Given the description of an element on the screen output the (x, y) to click on. 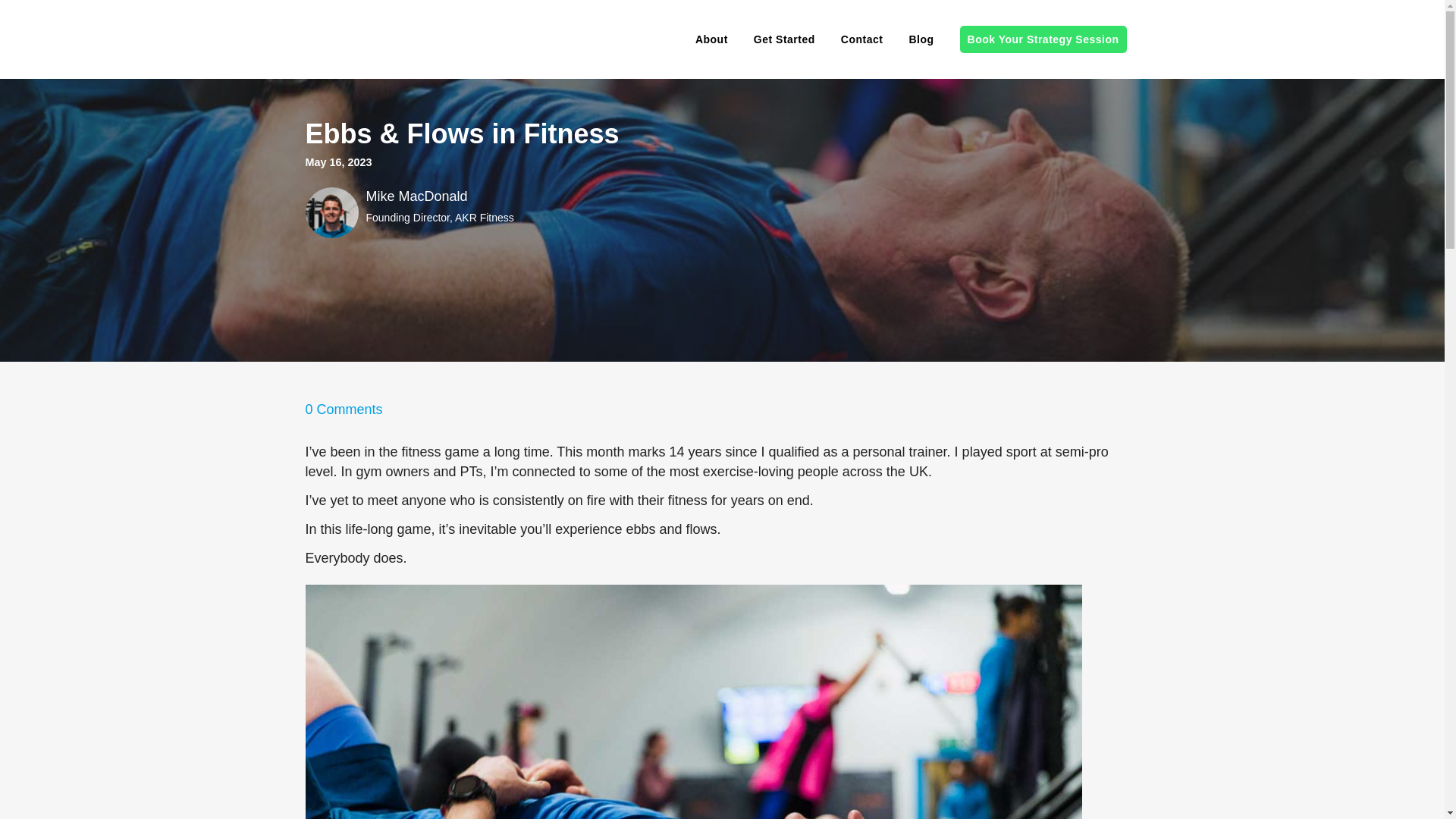
Contact (862, 39)
Book Your Strategy Session (1043, 39)
Get Started (784, 39)
Mike MacDonald (416, 196)
0 Comments (342, 409)
